Given the description of an element on the screen output the (x, y) to click on. 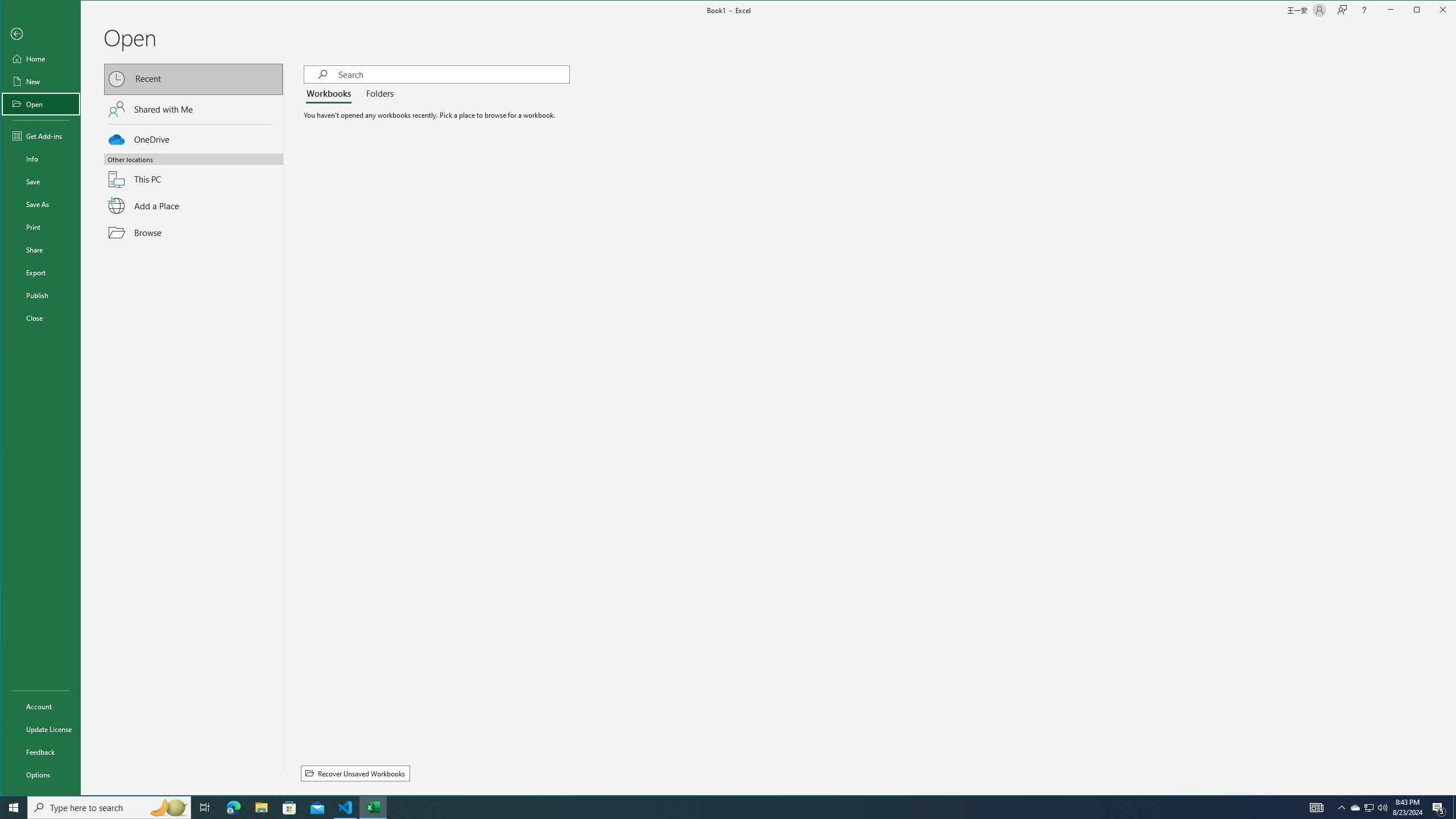
Folders (377, 94)
OneDrive (1368, 807)
Publish (193, 137)
Options (40, 295)
Print (40, 774)
New (40, 226)
Recent (40, 80)
AutomationID: 4105 (193, 79)
Visual Studio Code - 1 running window (1316, 807)
Notification Chevron (345, 807)
